Given the description of an element on the screen output the (x, y) to click on. 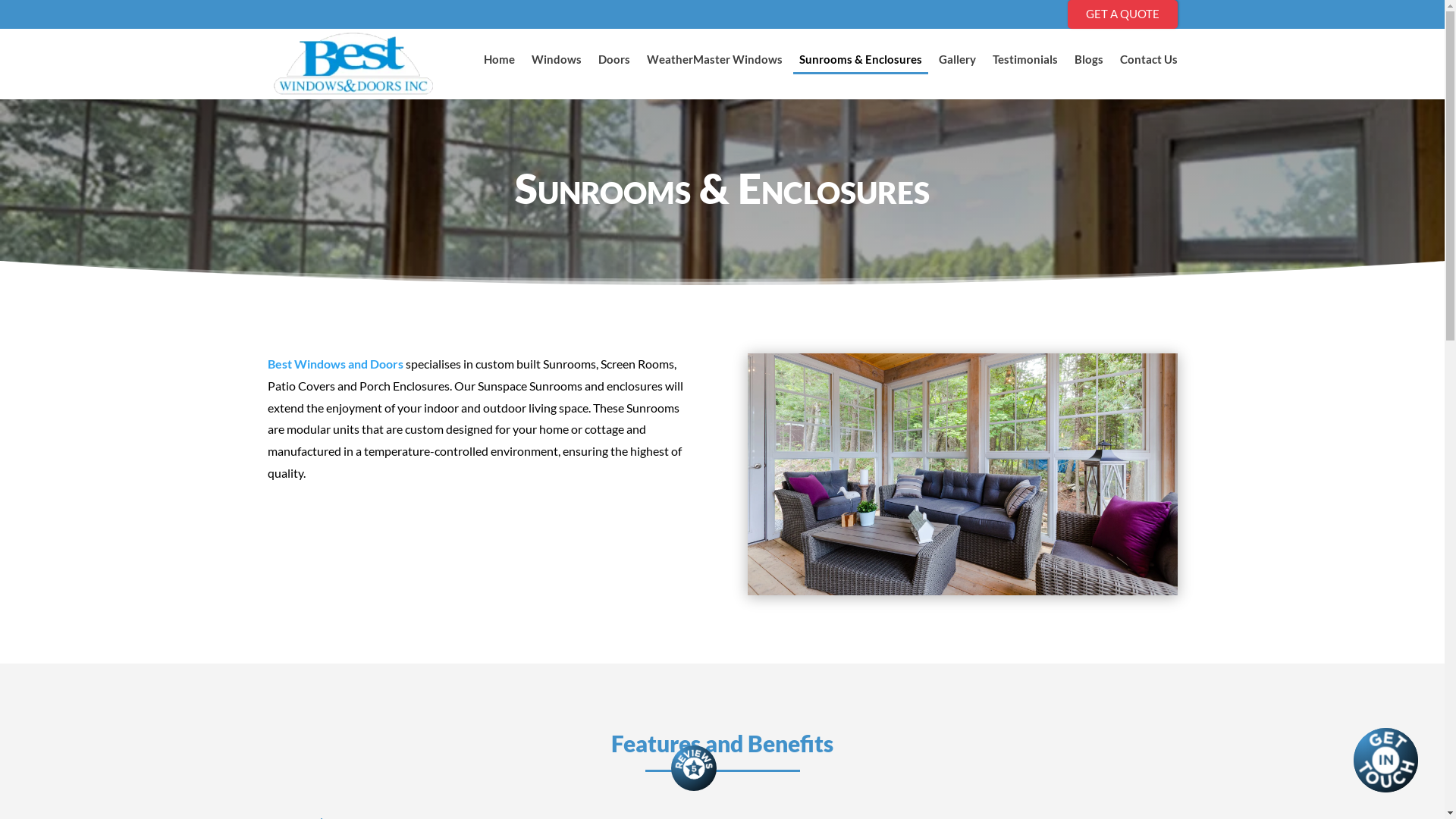
Windows Element type: text (555, 71)
Testimonials Element type: text (1024, 71)
Blogs Element type: text (1087, 71)
Gallery Element type: text (956, 71)
Best Windows and Doors Element type: text (334, 363)
Windows and Doors Winnipeg Element type: hover (962, 474)
Home Element type: text (498, 71)
WeatherMaster Windows Element type: text (713, 71)
GET A QUOTE Element type: text (1122, 13)
Contact Us Element type: text (1147, 71)
Sunrooms & Enclosures Element type: text (860, 76)
Doors Element type: text (613, 71)
